Given the description of an element on the screen output the (x, y) to click on. 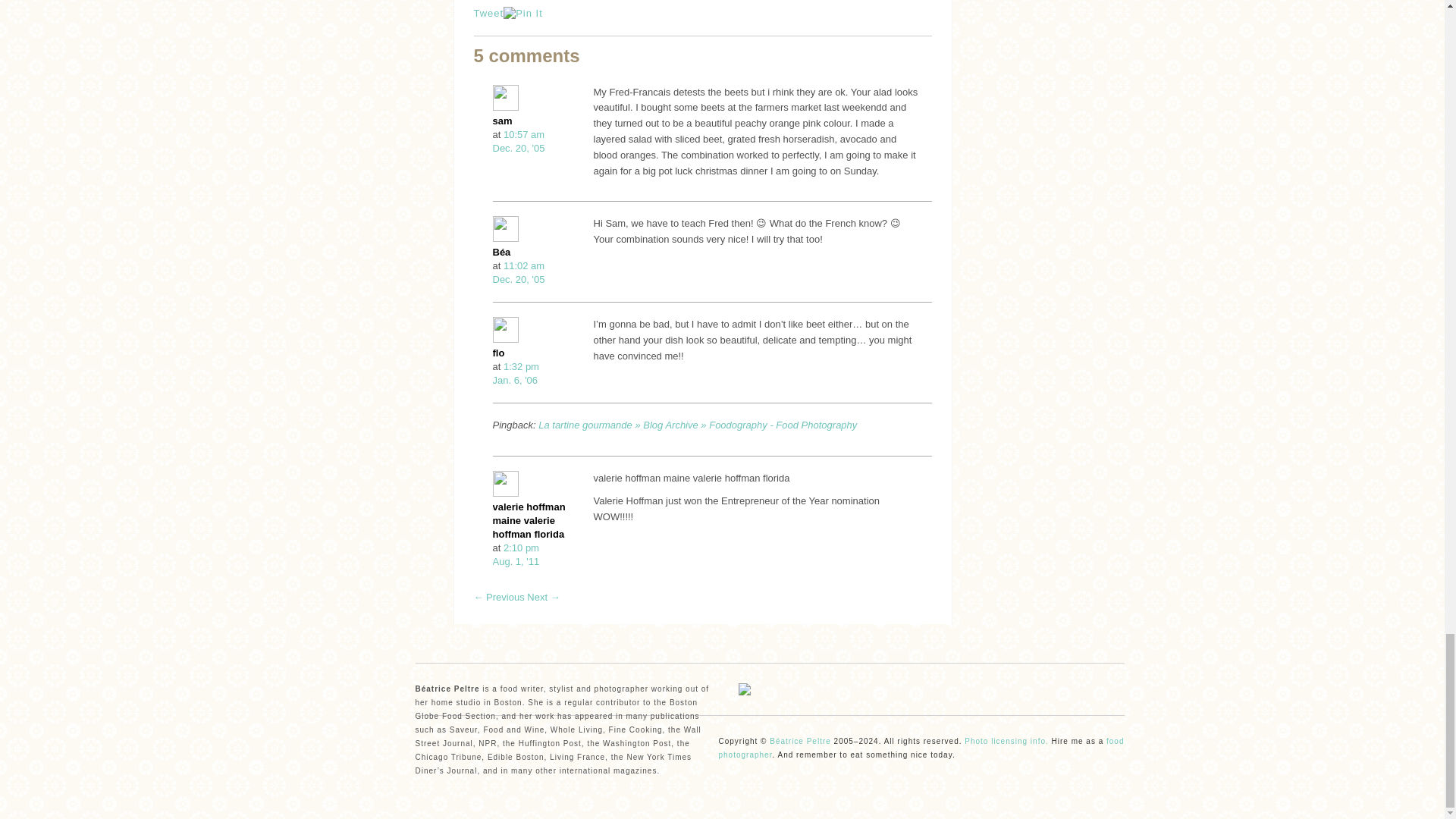
Pin It (523, 13)
